Given the description of an element on the screen output the (x, y) to click on. 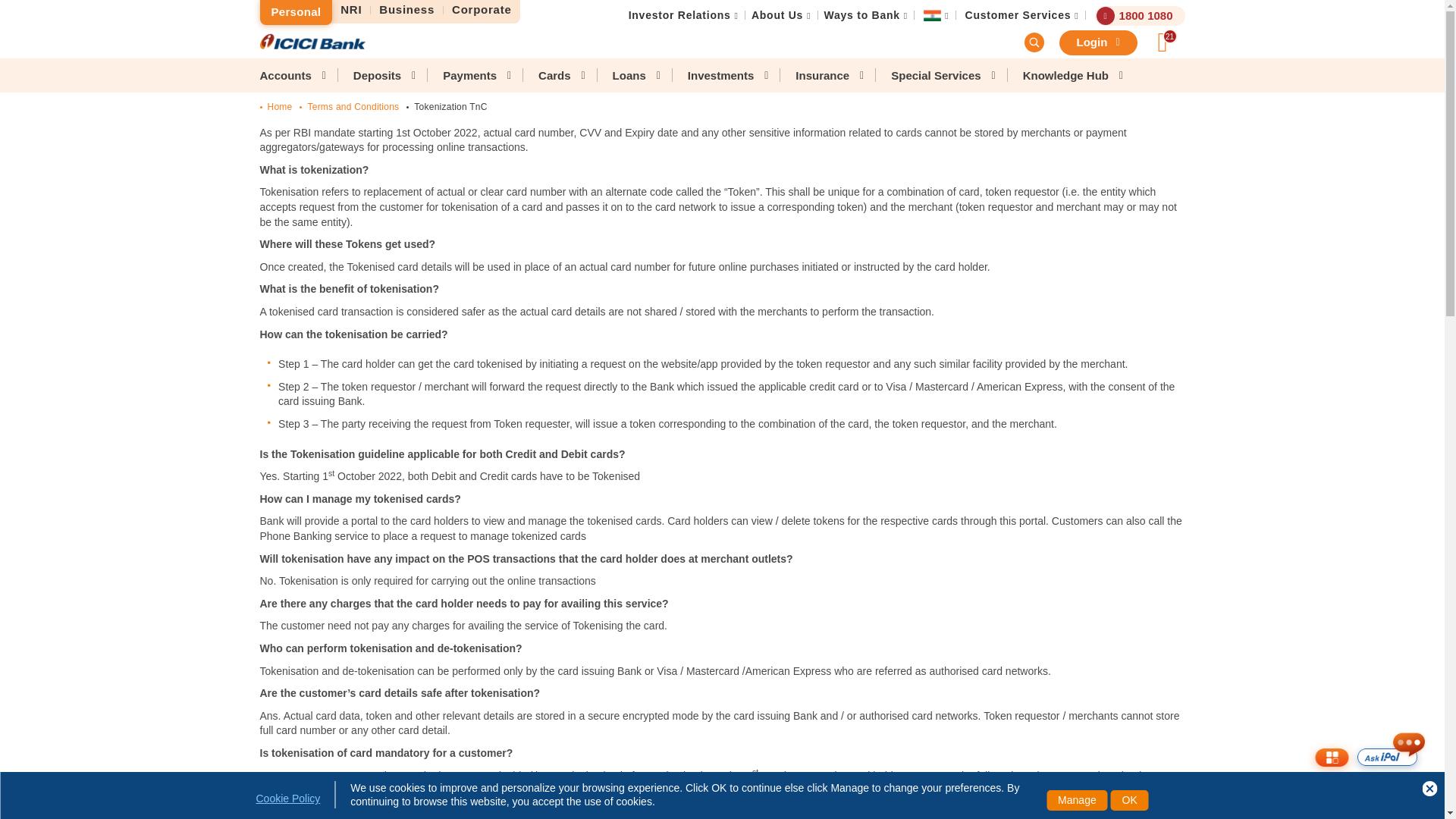
About Us (777, 15)
Investor Relations (679, 15)
Corporate (481, 9)
NRI (351, 9)
Customer Services (1018, 15)
Business (407, 9)
Personal (295, 12)
Ways to Bank (861, 15)
